Given the description of an element on the screen output the (x, y) to click on. 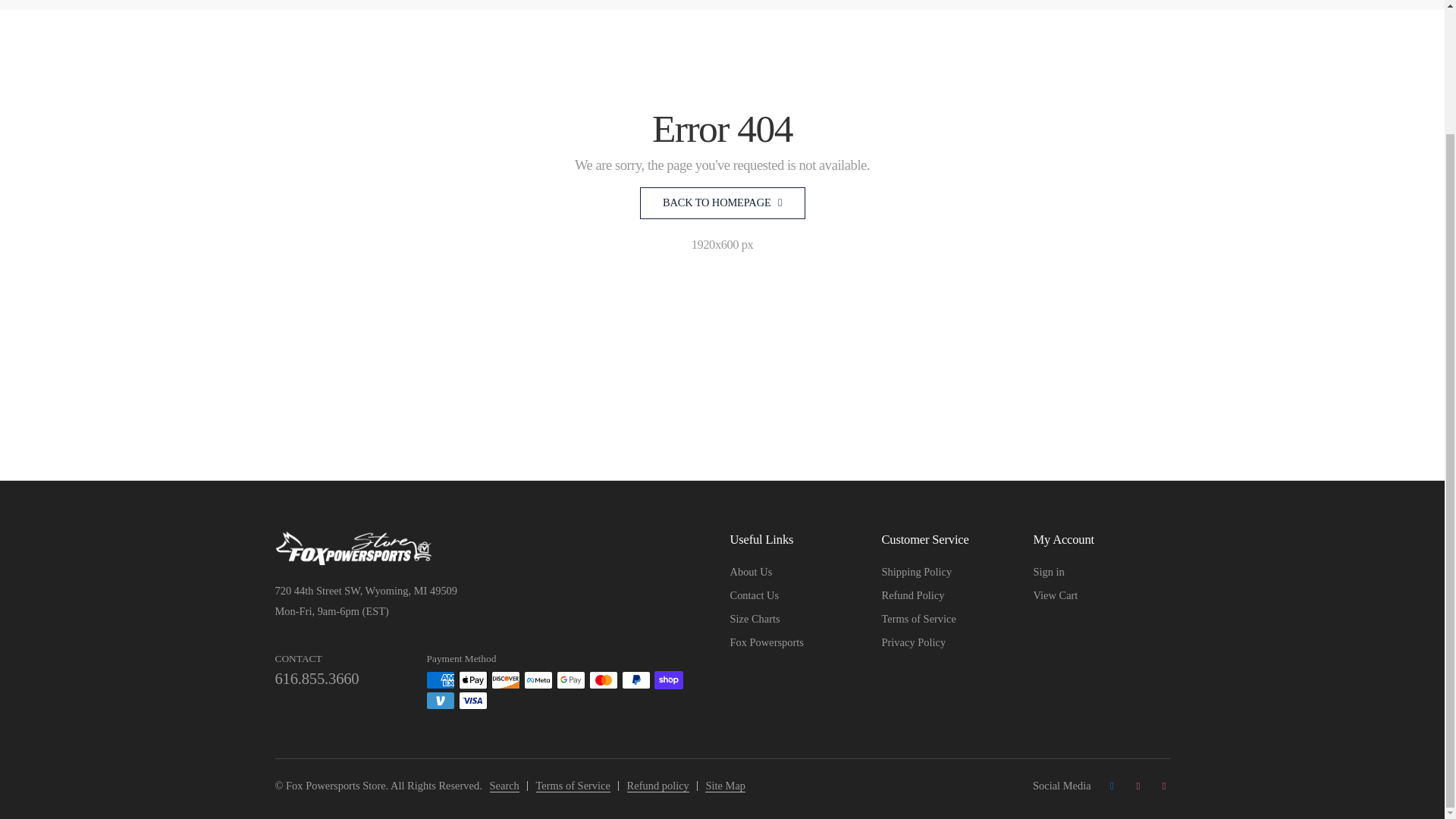
Venmo (440, 700)
Shipping Policy (916, 571)
Visa (472, 700)
BACK TO HOMEPAGE (722, 202)
Discover (505, 679)
Terms of Service (572, 785)
Sign in (1048, 571)
Refund Policy (911, 594)
Terms of Service (917, 618)
Shop Pay (667, 679)
About Us (750, 571)
Contact Us (753, 594)
View Cart (1054, 594)
Home (288, 0)
Fox Powersports (766, 642)
